Given the description of an element on the screen output the (x, y) to click on. 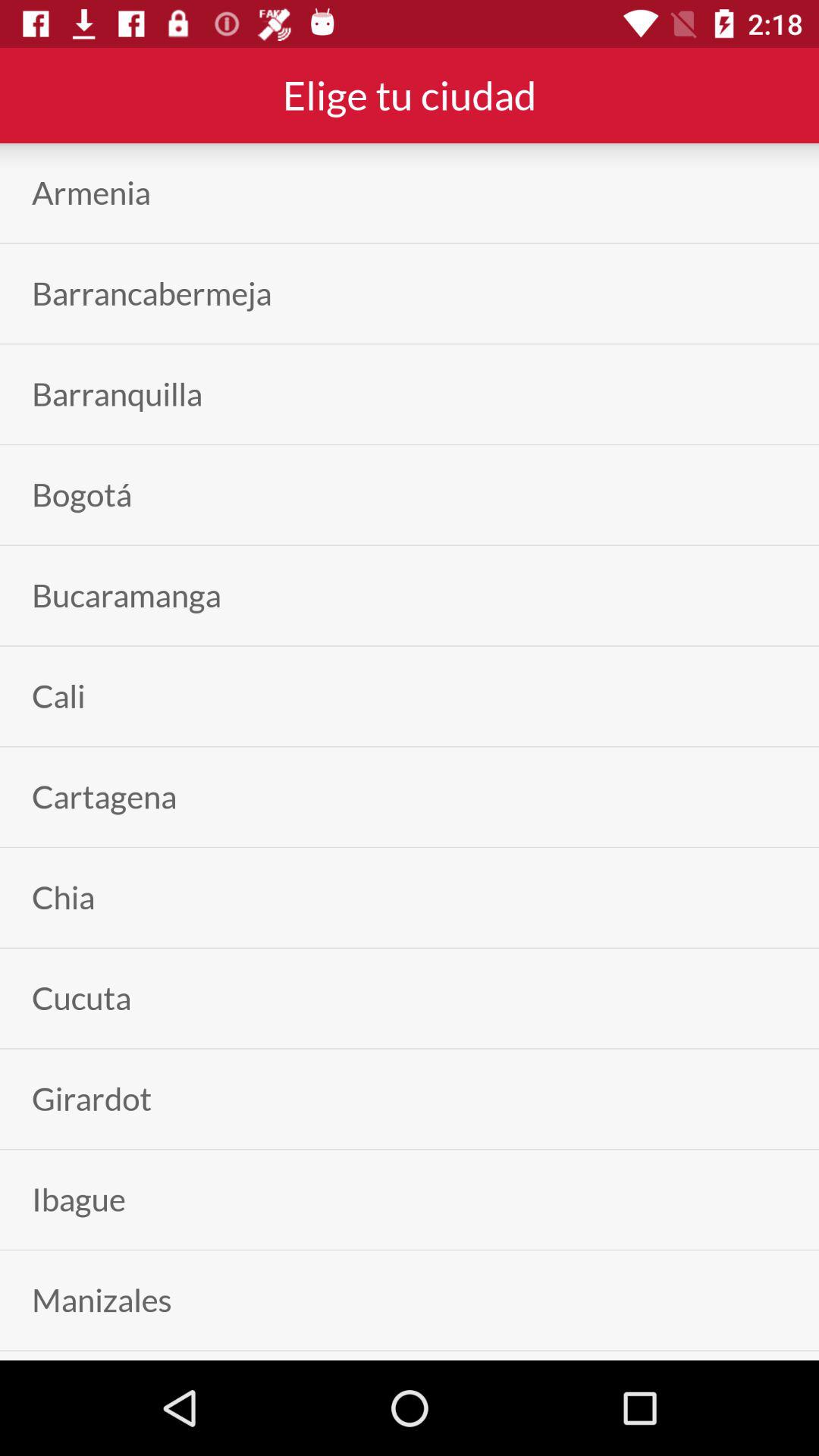
flip to the bucaramanga item (126, 595)
